Given the description of an element on the screen output the (x, y) to click on. 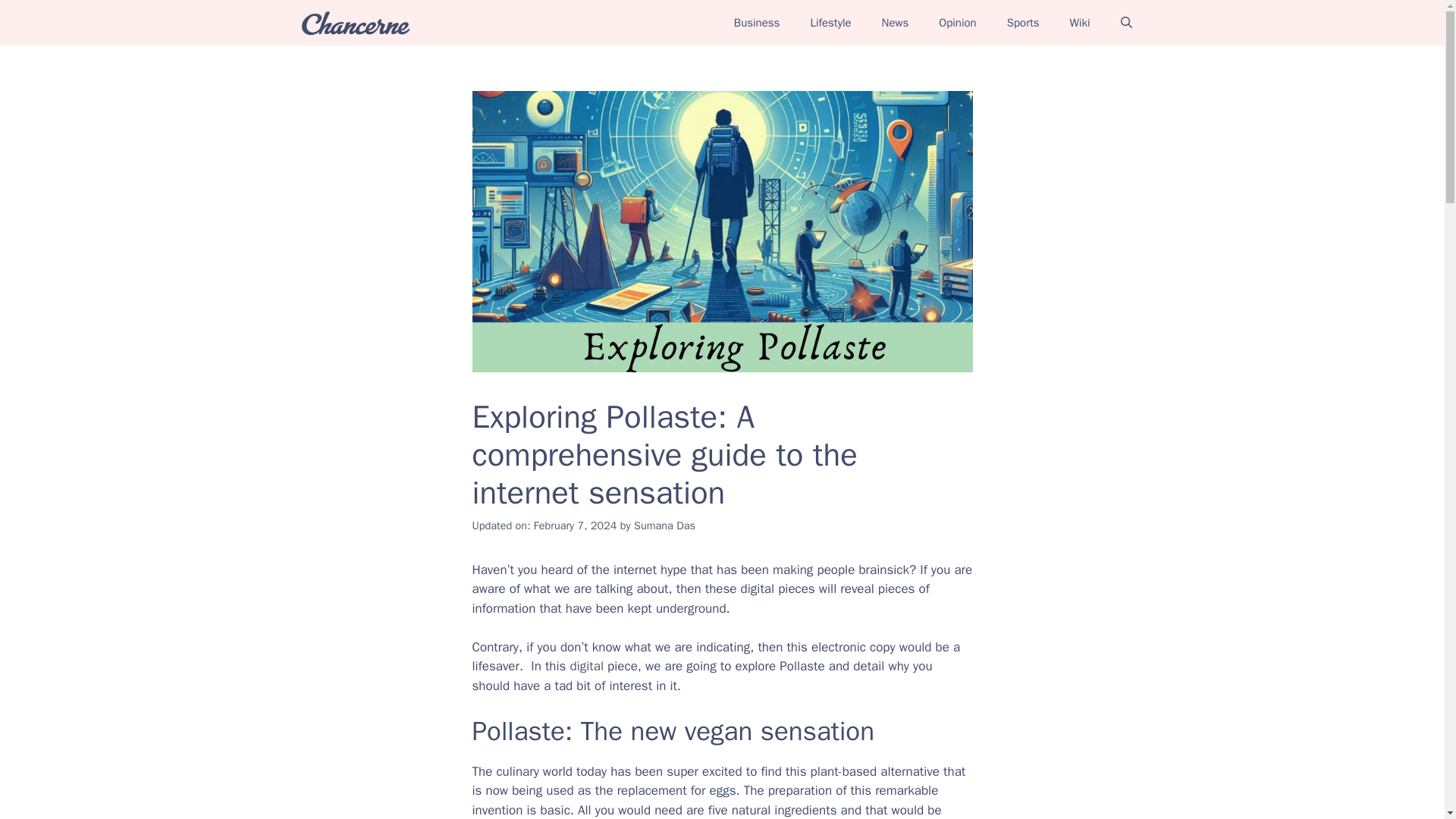
Lifestyle (830, 22)
Opinion (957, 22)
News (895, 22)
Wiki (1079, 22)
Chancerne (355, 22)
Business (756, 22)
Sumana Das (664, 525)
View all posts by Sumana Das (664, 525)
digital (587, 666)
Sports (1022, 22)
